Given the description of an element on the screen output the (x, y) to click on. 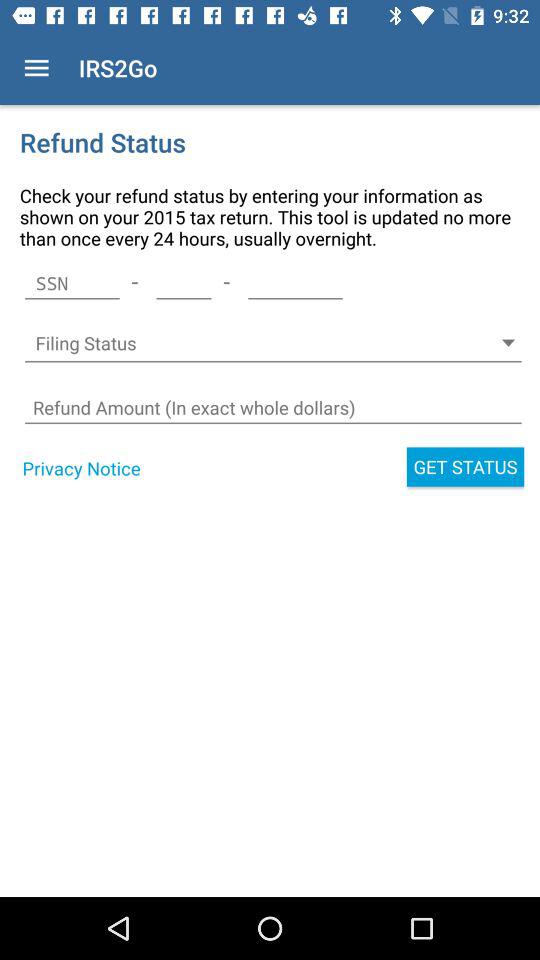
turn off item below check your refund icon (295, 283)
